Given the description of an element on the screen output the (x, y) to click on. 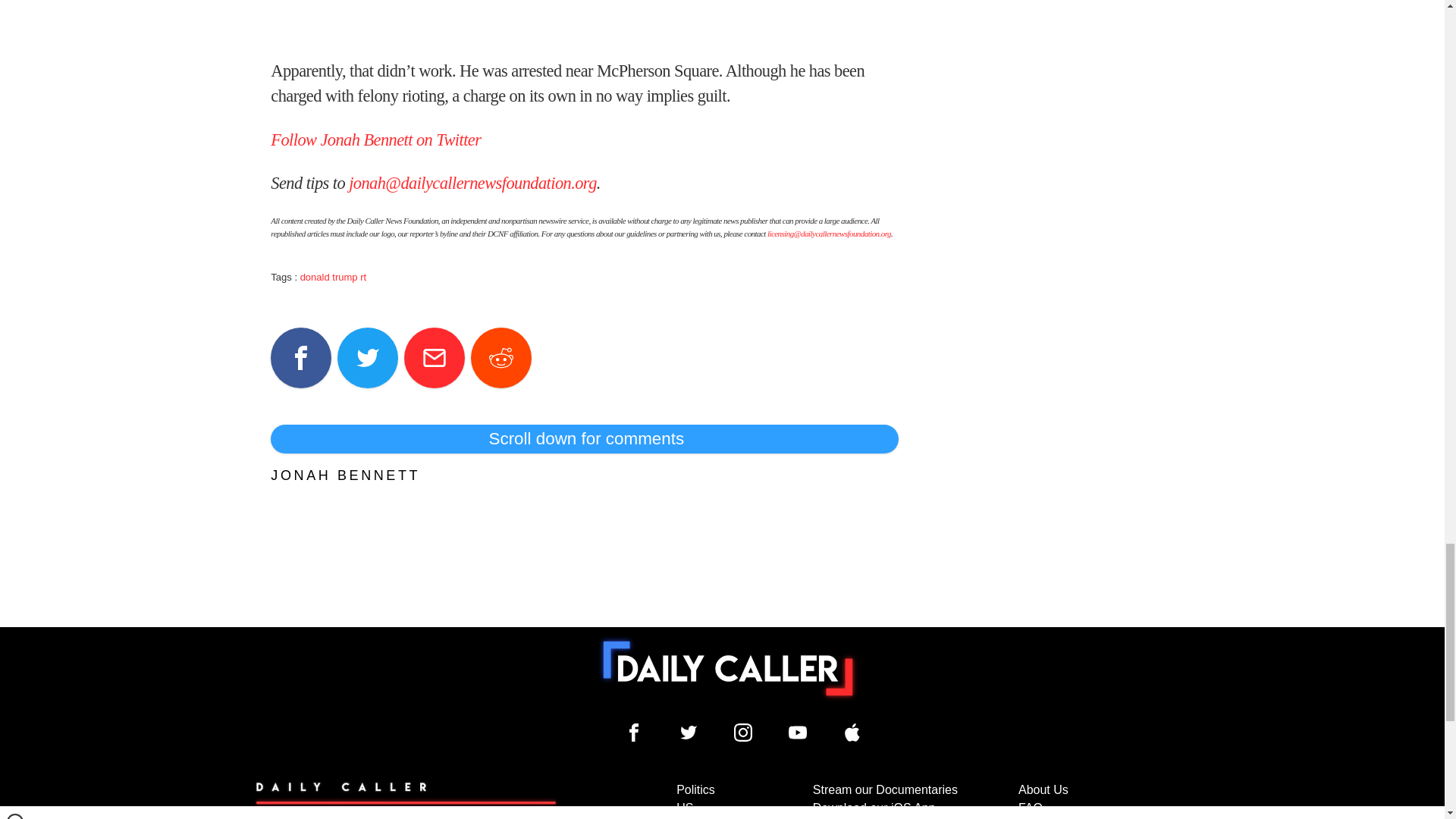
Daily Caller Twitter (688, 732)
Scroll down for comments (584, 439)
Daily Caller YouTube (797, 732)
Daily Caller YouTube (852, 732)
Daily Caller Instagram (742, 732)
Daily Caller Facebook (633, 732)
Subscribe to The Daily Caller (405, 800)
To home page (727, 668)
